Given the description of an element on the screen output the (x, y) to click on. 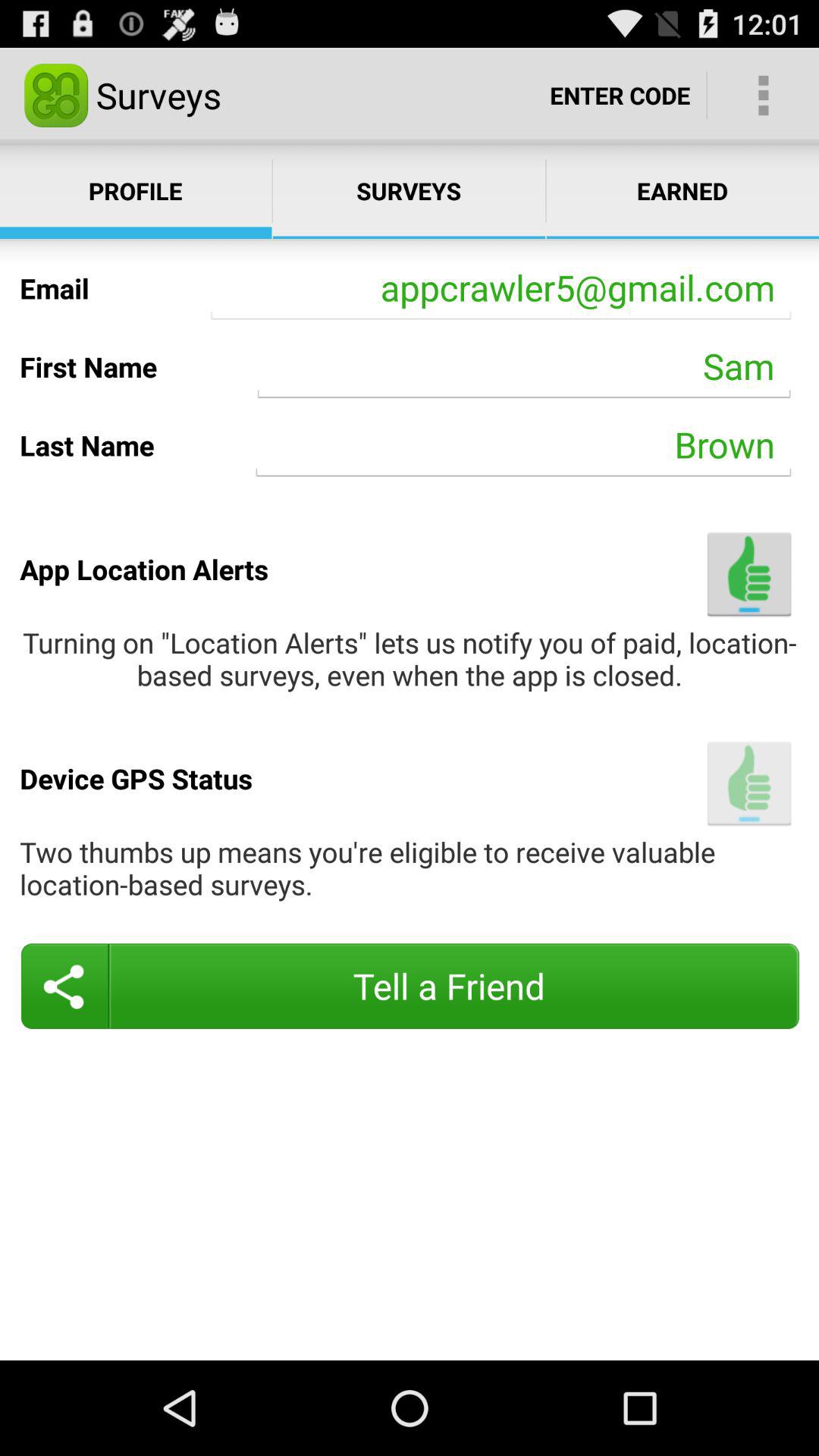
turn off the item below brown (749, 573)
